Given the description of an element on the screen output the (x, y) to click on. 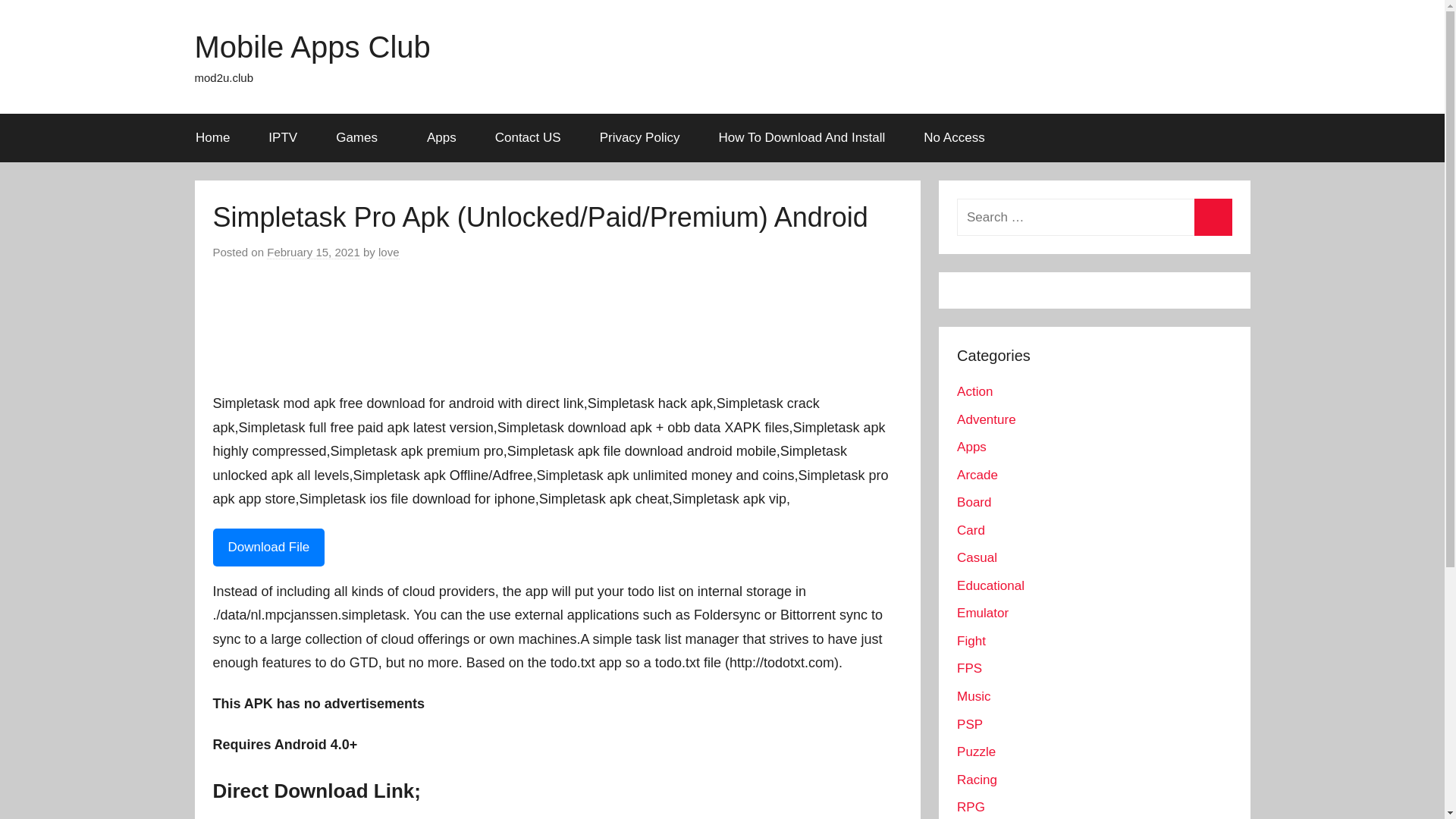
Apps (441, 137)
View all posts by love (388, 252)
Home (212, 137)
Contact US (527, 137)
Mobile Apps Club (311, 46)
Search for: (1093, 217)
February 15, 2021 (312, 252)
No Access (954, 137)
love (388, 252)
IPTV (282, 137)
Download File (268, 546)
Download File (268, 547)
Privacy Policy (638, 137)
Games (362, 137)
How To Download And Install (801, 137)
